Given the description of an element on the screen output the (x, y) to click on. 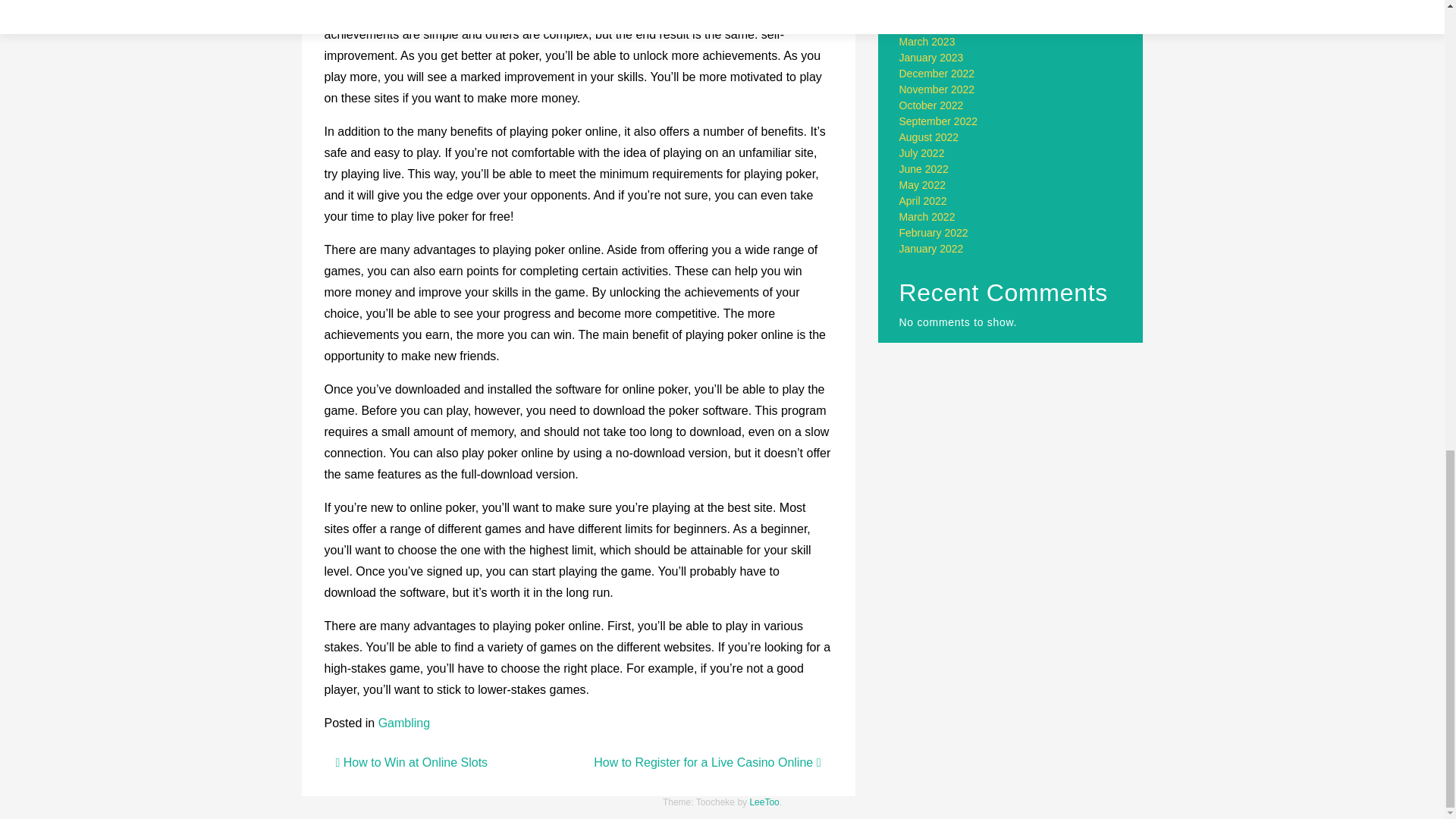
December 2022 (937, 73)
July 2022 (921, 152)
August 2022 (929, 137)
June 2022 (924, 168)
 How to Win at Online Slots (410, 762)
October 2022 (931, 105)
April 2023 (923, 25)
How to Register for a Live Casino Online  (707, 762)
May 2023 (921, 9)
March 2023 (927, 41)
September 2022 (938, 121)
November 2022 (937, 89)
Gambling (403, 722)
January 2023 (931, 57)
